Given the description of an element on the screen output the (x, y) to click on. 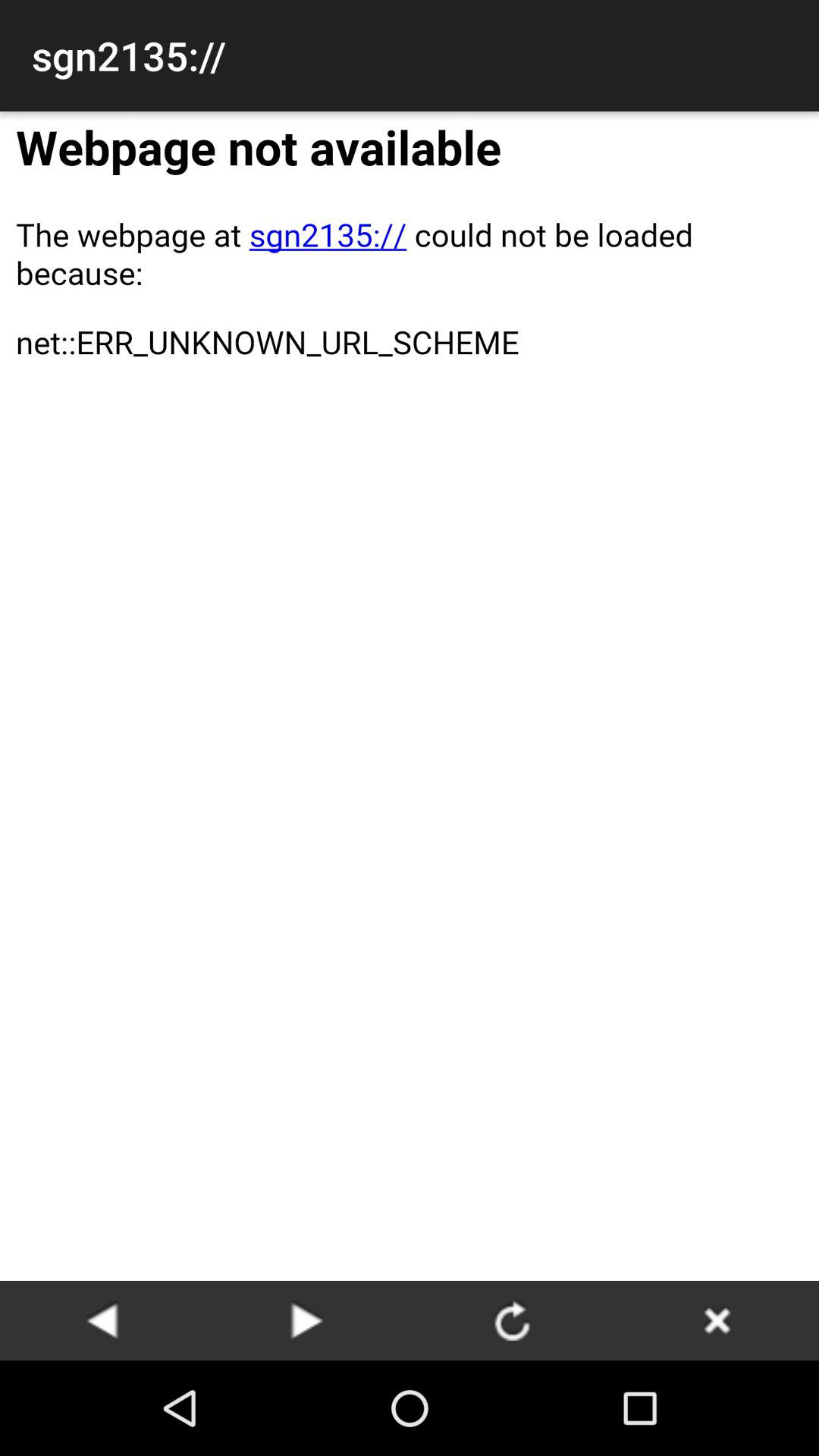
refresh page (511, 1320)
